Given the description of an element on the screen output the (x, y) to click on. 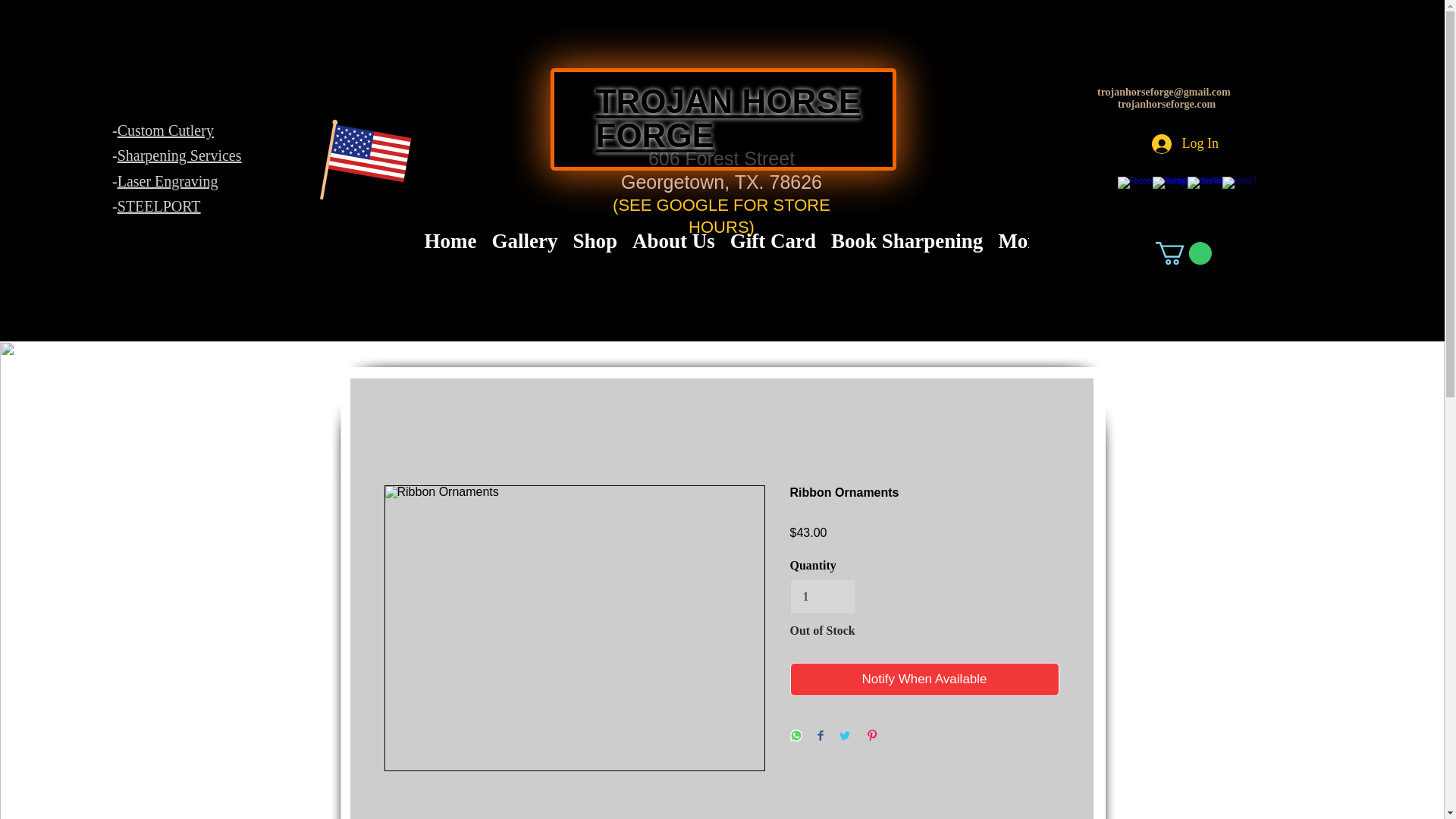
STEELPORT (158, 206)
Home (450, 253)
Book Sharpening (907, 253)
Gift Card (773, 253)
About Us (673, 253)
TROJAN HORSE FORGE (728, 118)
1 (823, 596)
Shop (594, 253)
Sharpening Services (179, 155)
Log In (1184, 143)
Custom Cutlery (165, 130)
Gallery (523, 253)
Notify When Available (924, 679)
